Given the description of an element on the screen output the (x, y) to click on. 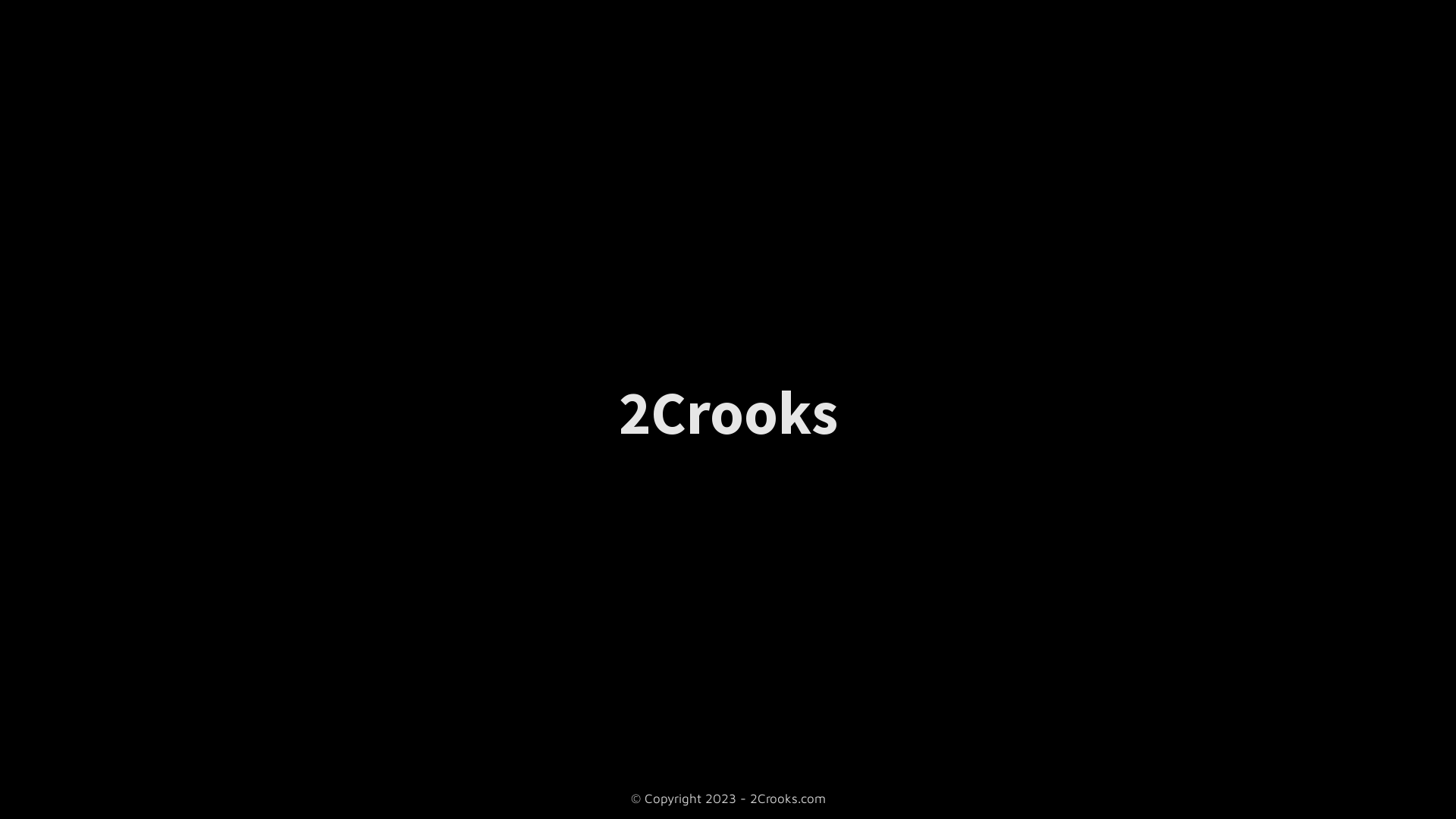
2Crooks Element type: text (727, 421)
